Given the description of an element on the screen output the (x, y) to click on. 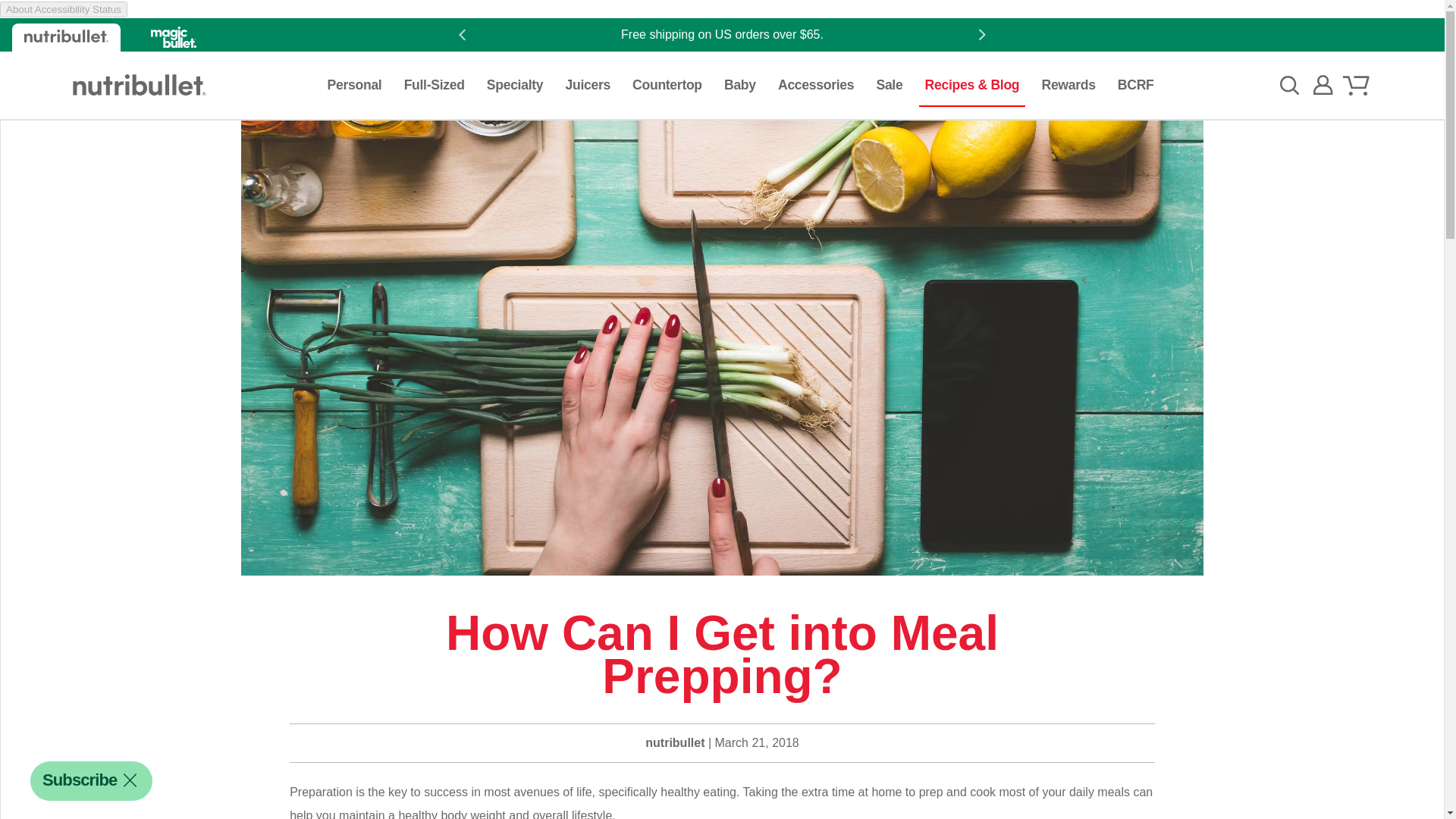
Countertop (666, 85)
Personal (354, 85)
Accessories (815, 85)
Specialty (514, 85)
Sale (888, 85)
Rewards (1068, 85)
Baby (739, 85)
Full-Sized (433, 85)
Icon to close the subscription popup (129, 780)
Juicers (587, 85)
BCRF (1136, 85)
